Given the description of an element on the screen output the (x, y) to click on. 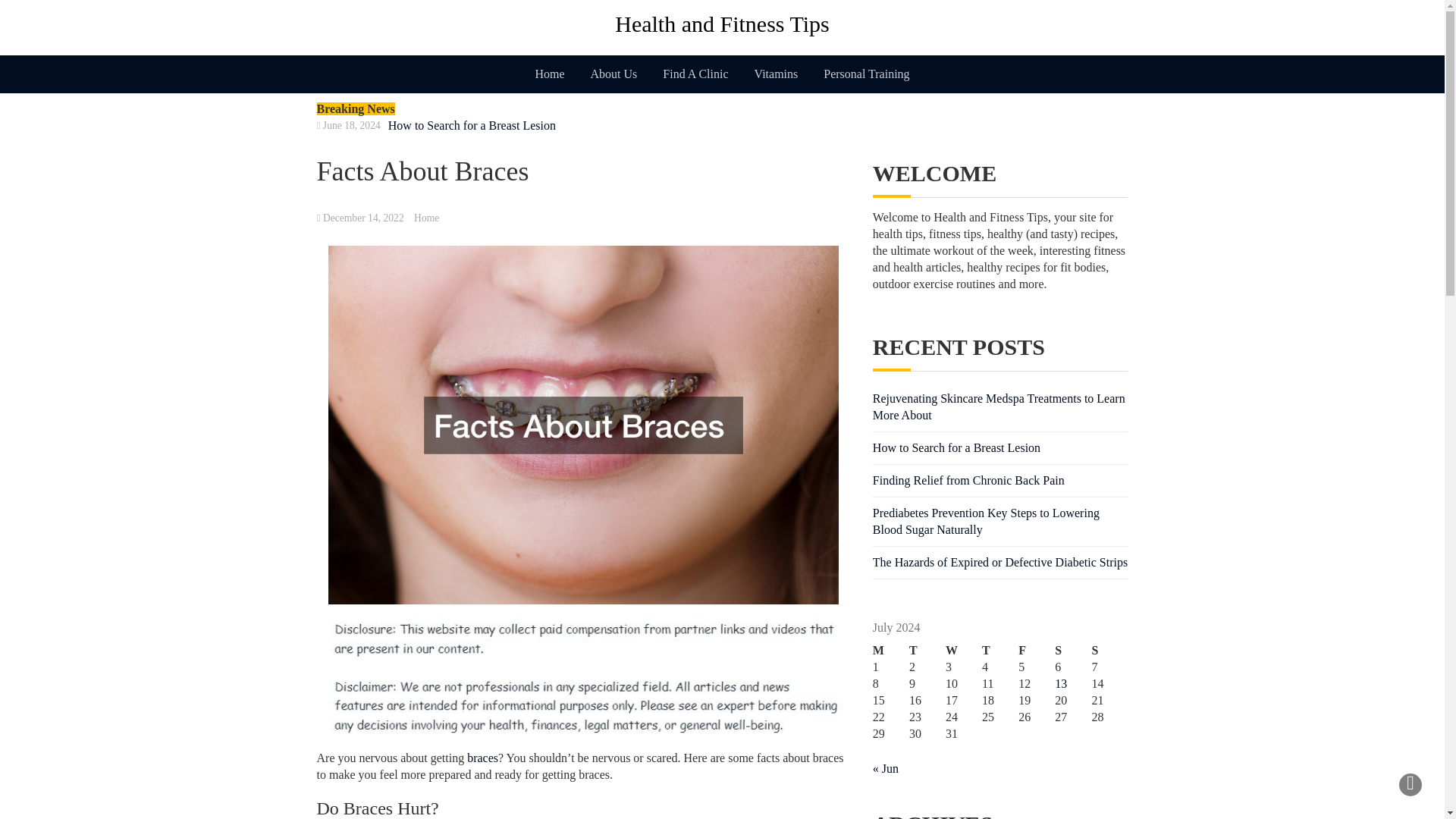
Sunday (1108, 650)
Home (426, 217)
Rejuvenating Skincare Medspa Treatments to Learn More About (998, 406)
Monday (890, 650)
braces (482, 757)
About Us (614, 74)
How to Search for a Breast Lesion (956, 447)
How to Search for a Breast Lesion (472, 125)
Friday (1035, 650)
Personal Training (866, 74)
Finding Relief from Chronic Back Pain (968, 480)
Home (548, 74)
Personal Training (866, 74)
Tuesday (926, 650)
Health and Fitness Tips (722, 23)
